Given the description of an element on the screen output the (x, y) to click on. 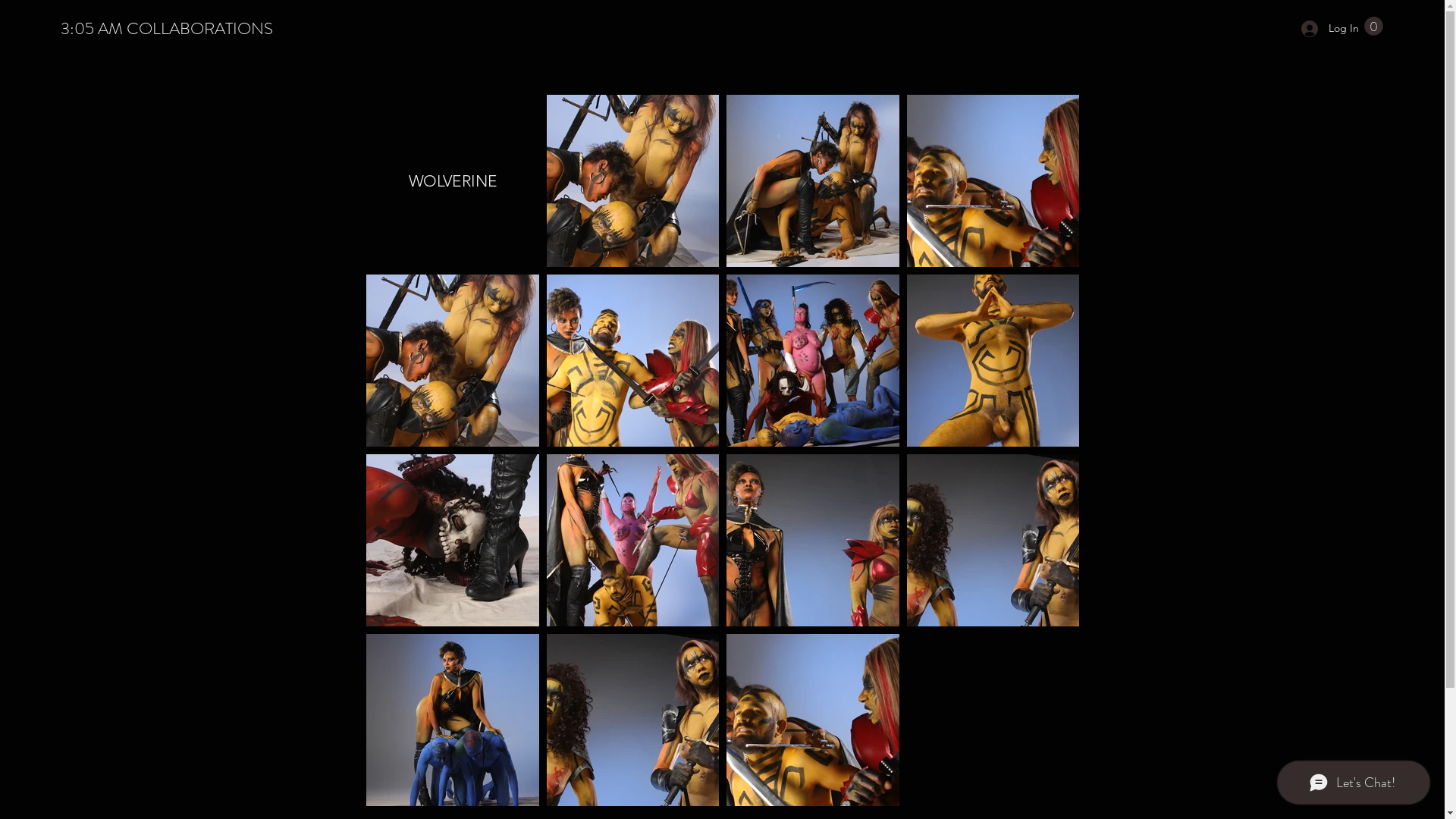
3:05 AM COLLABORATIONS Element type: text (166, 28)
0 Element type: text (1373, 25)
Log In Element type: text (1324, 28)
